Given the description of an element on the screen output the (x, y) to click on. 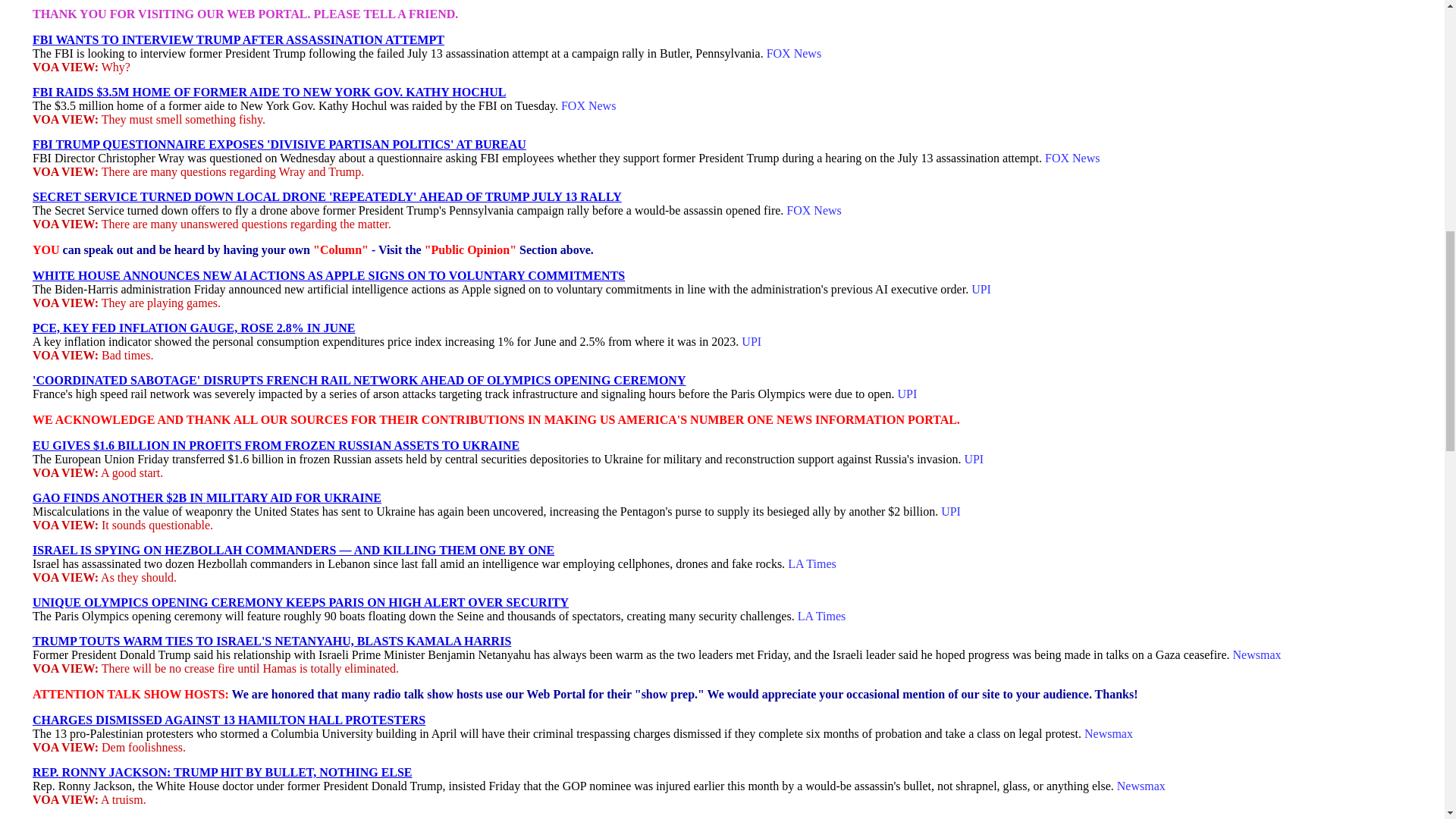
FBI WANTS TO INTERVIEW TRUMP AFTER ASSASSINATION ATTEMPT (238, 39)
